Given the description of an element on the screen output the (x, y) to click on. 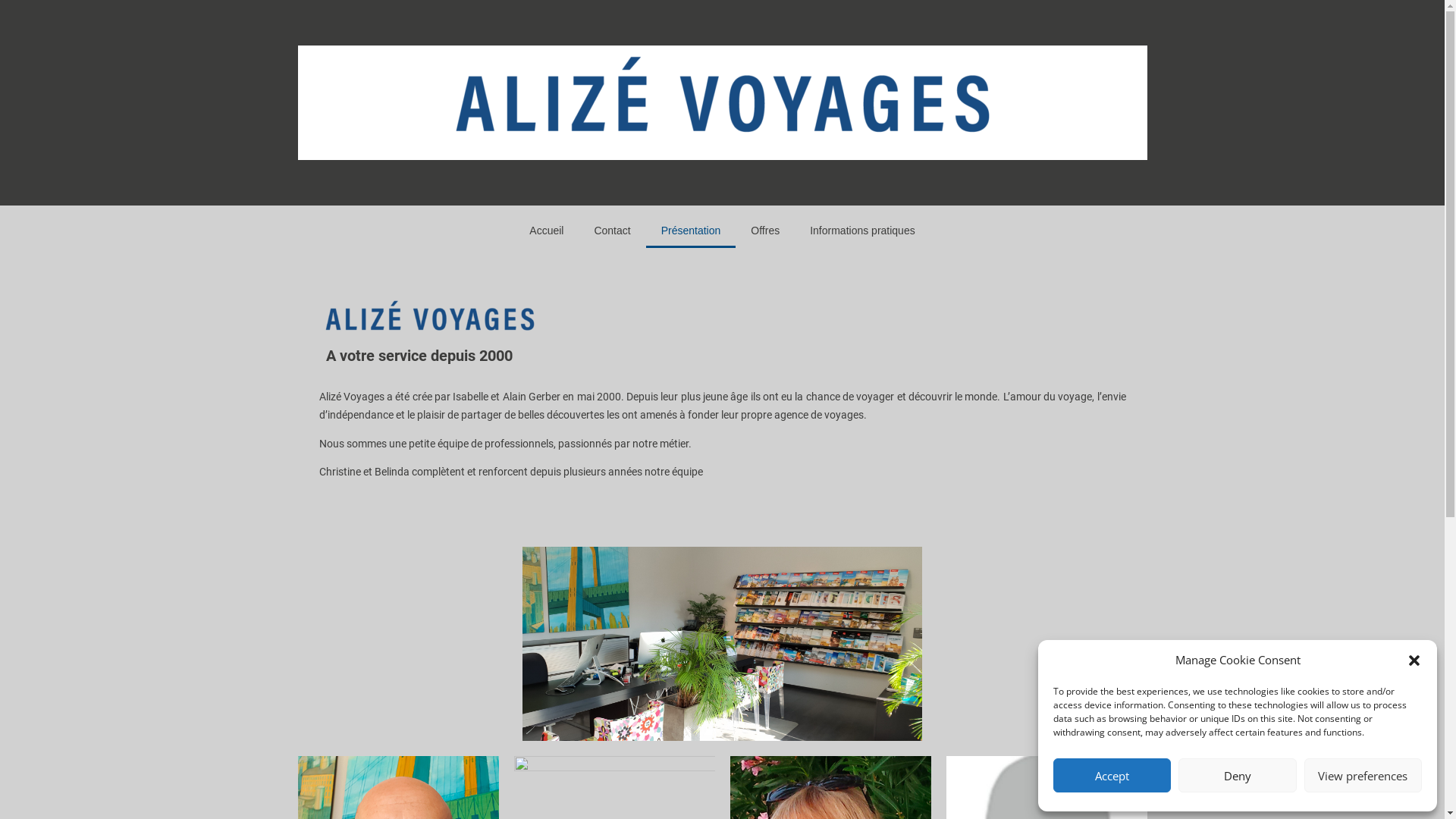
Accept Element type: text (1111, 775)
Informations pratiques Element type: text (862, 230)
Contact Element type: text (611, 230)
Accueil Element type: text (546, 230)
Deny Element type: text (1236, 775)
View preferences Element type: text (1362, 775)
Offres Element type: text (764, 230)
